Given the description of an element on the screen output the (x, y) to click on. 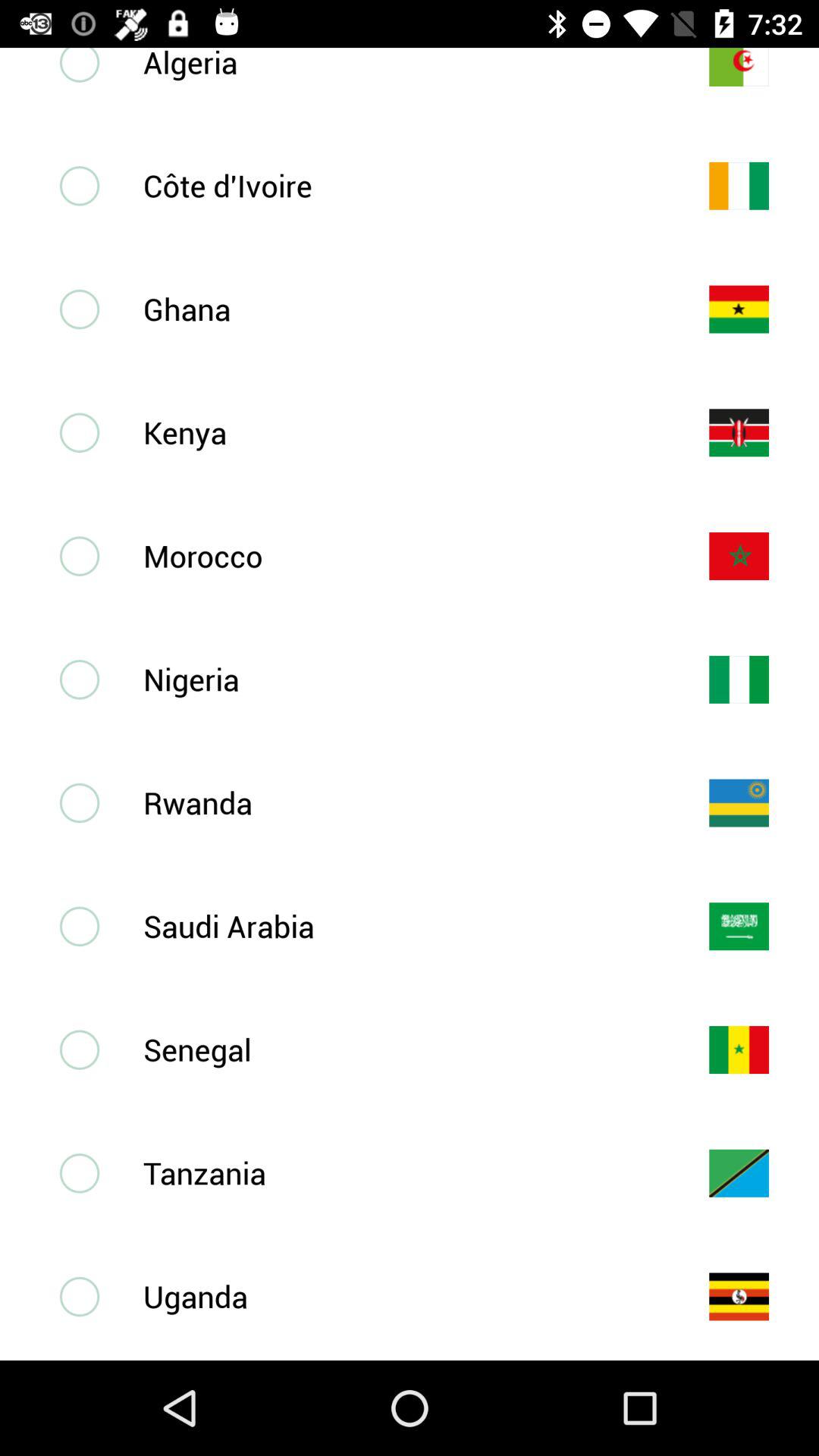
jump to nigeria item (401, 679)
